Given the description of an element on the screen output the (x, y) to click on. 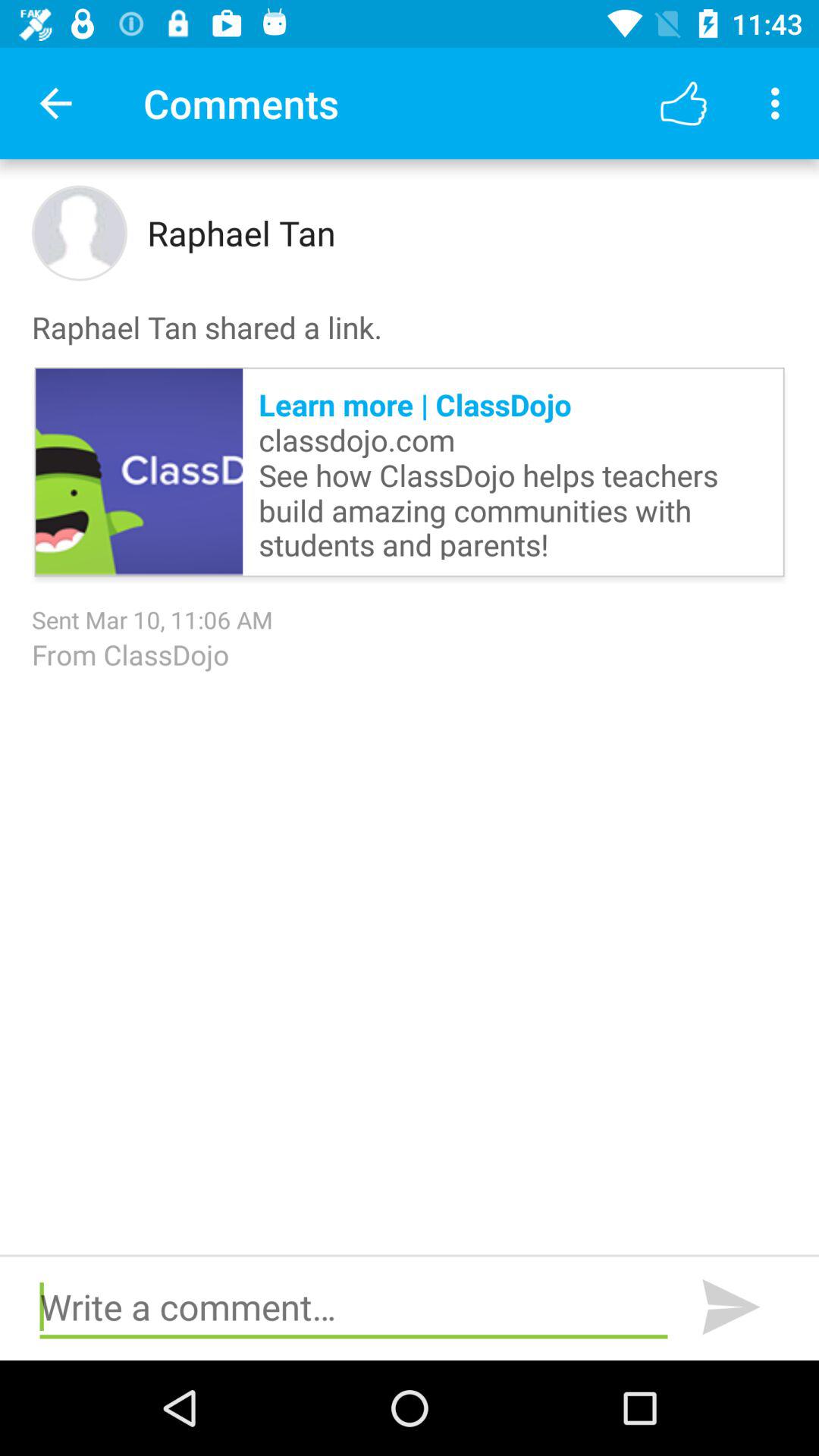
press item to the left of learn more classdojo icon (138, 471)
